Given the description of an element on the screen output the (x, y) to click on. 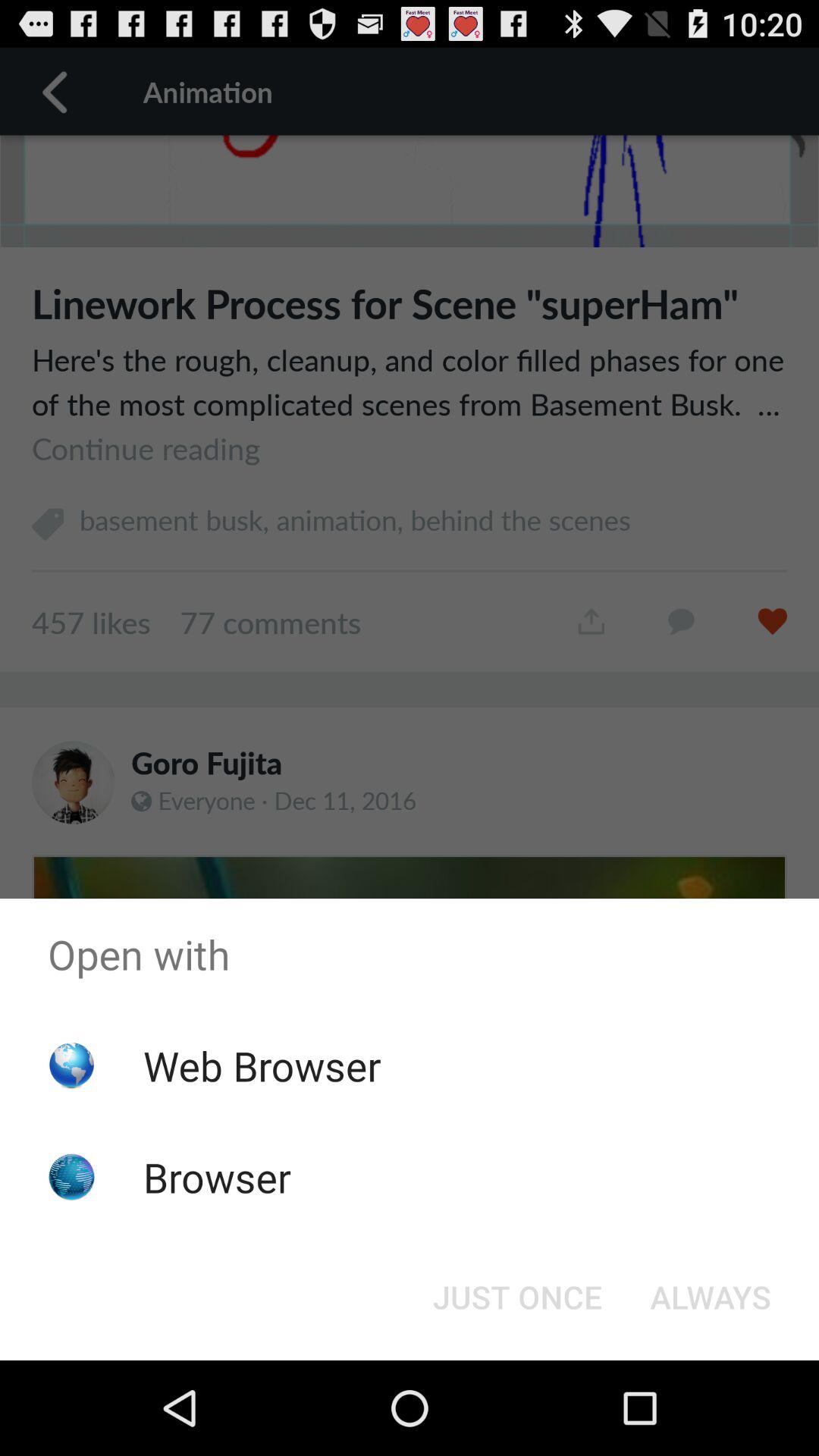
turn off the icon below open with icon (517, 1296)
